Given the description of an element on the screen output the (x, y) to click on. 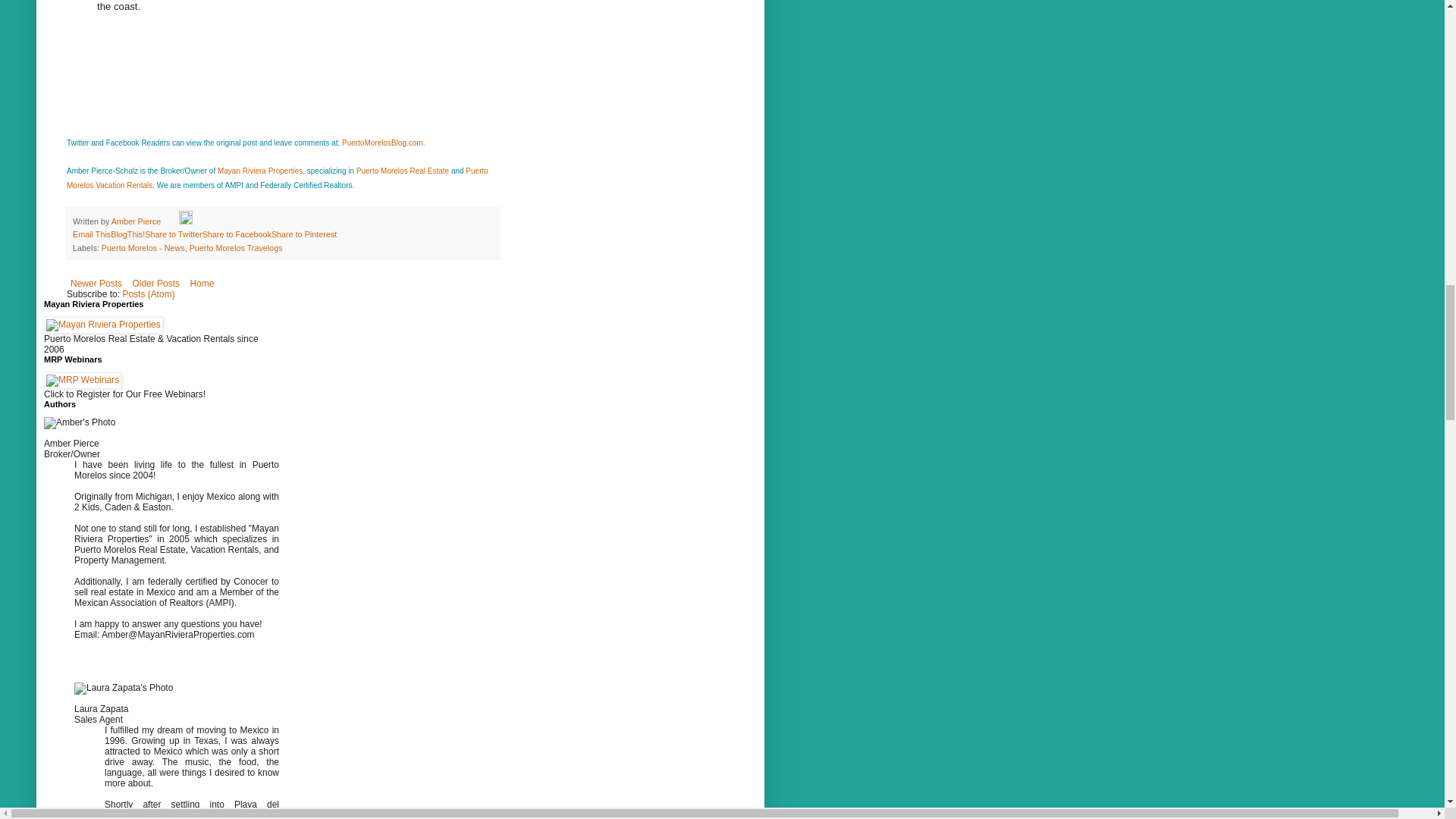
author profile (137, 221)
